Given the description of an element on the screen output the (x, y) to click on. 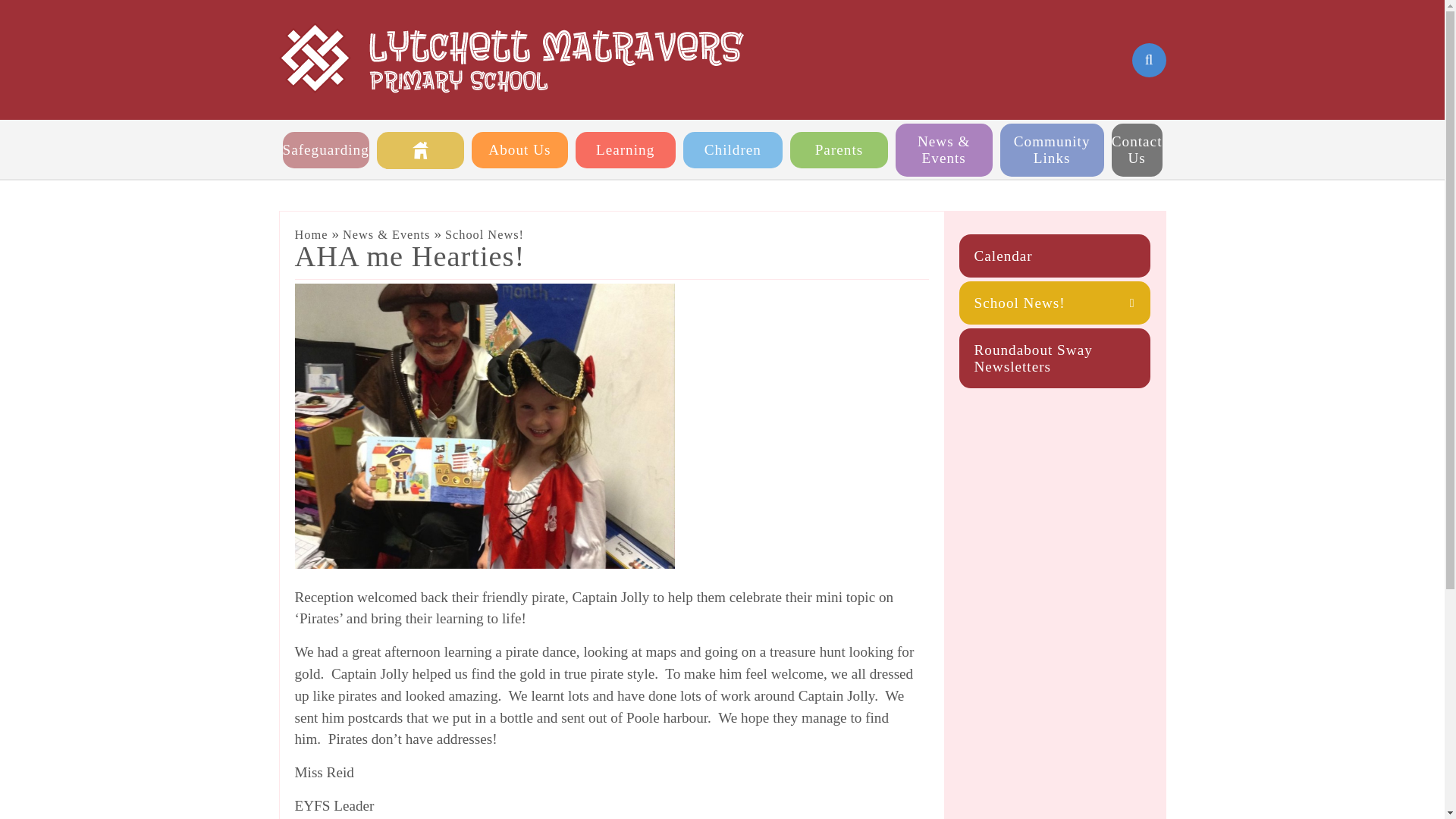
Home (420, 149)
Children (732, 149)
Learning (625, 149)
About Us (519, 149)
Safeguarding (325, 149)
